Given the description of an element on the screen output the (x, y) to click on. 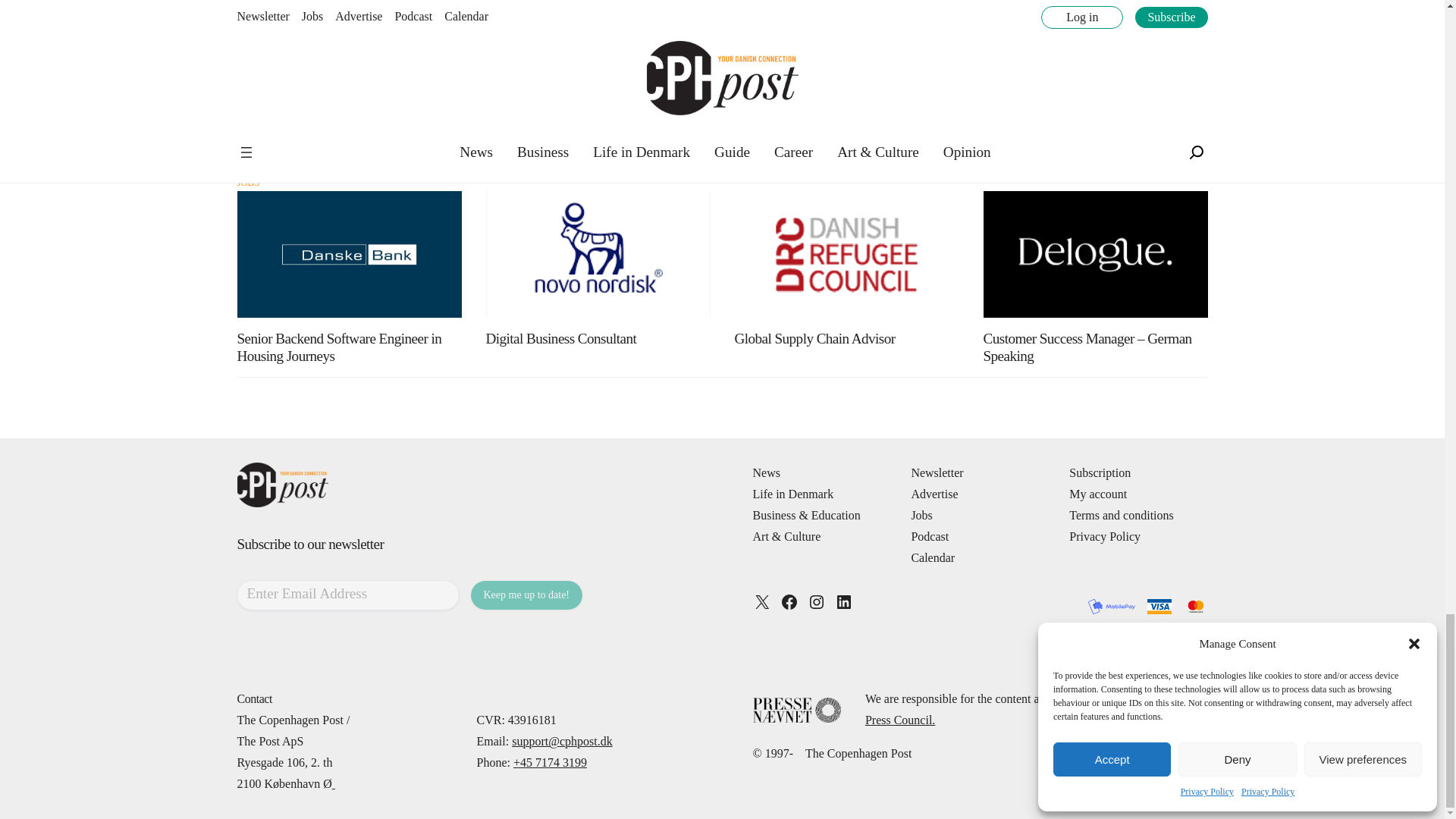
Keep me up to date! (526, 594)
